Given the description of an element on the screen output the (x, y) to click on. 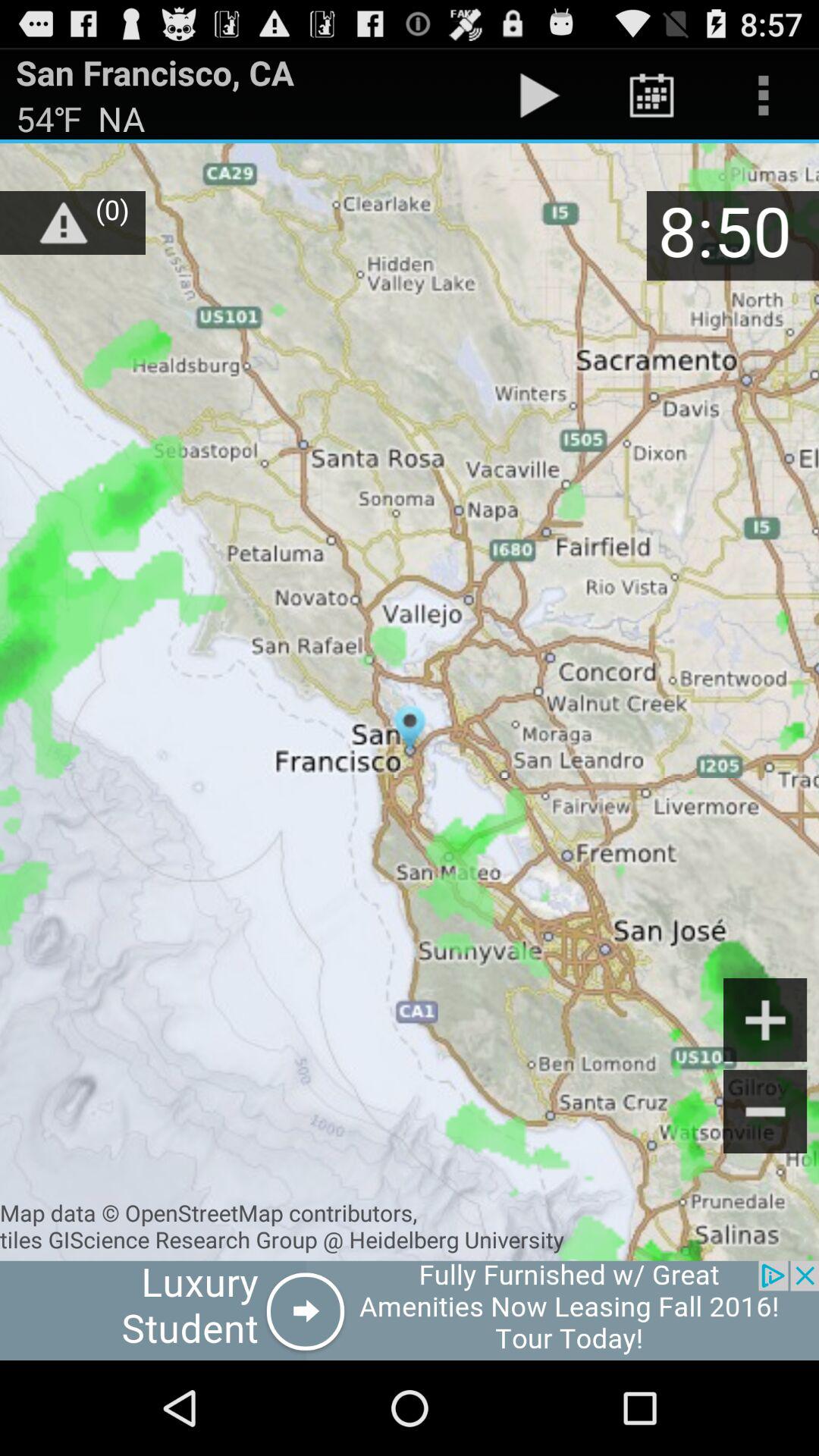
open advertisement (409, 1310)
